Given the description of an element on the screen output the (x, y) to click on. 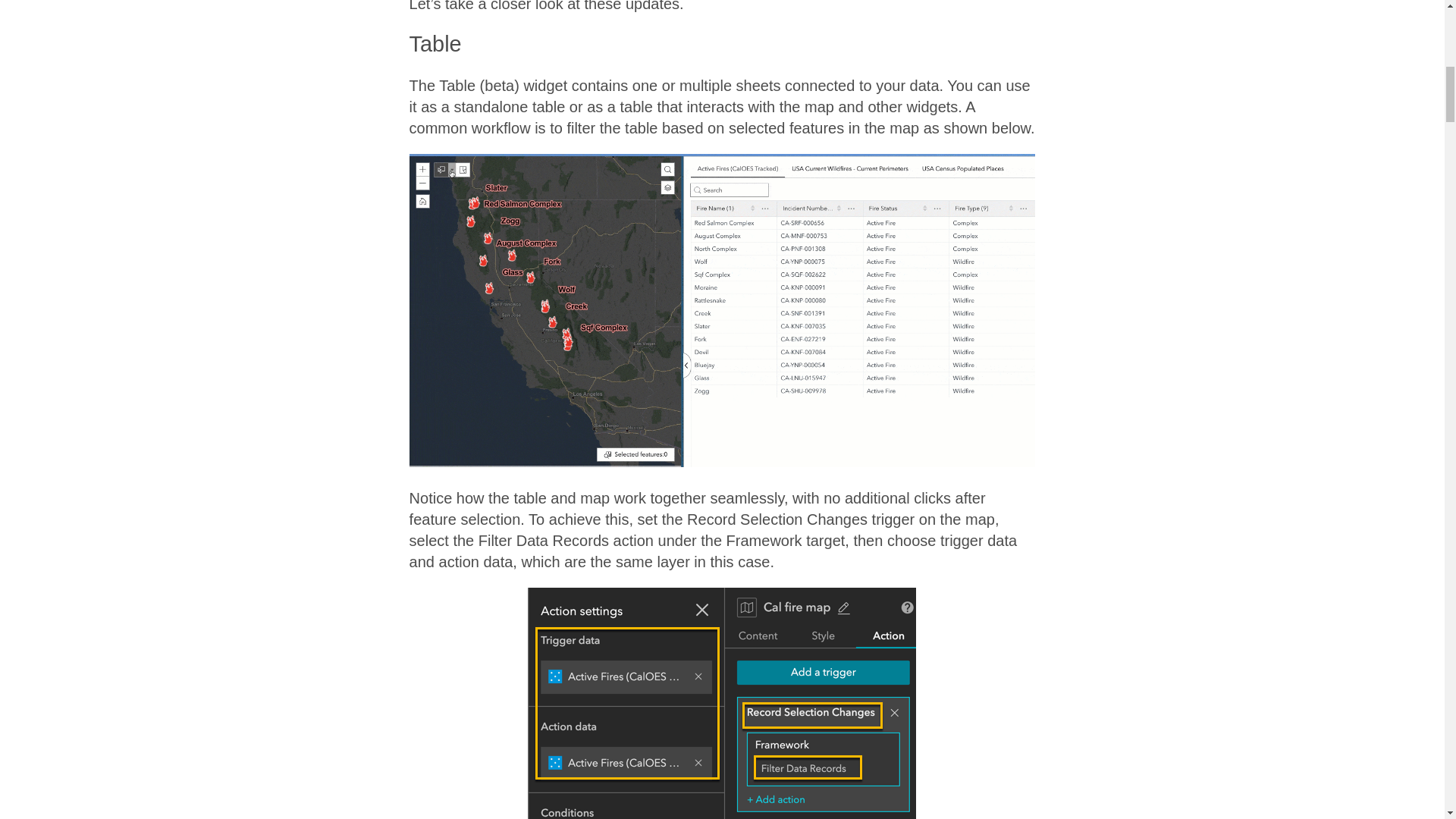
Actions to filter table (721, 703)
